Given the description of an element on the screen output the (x, y) to click on. 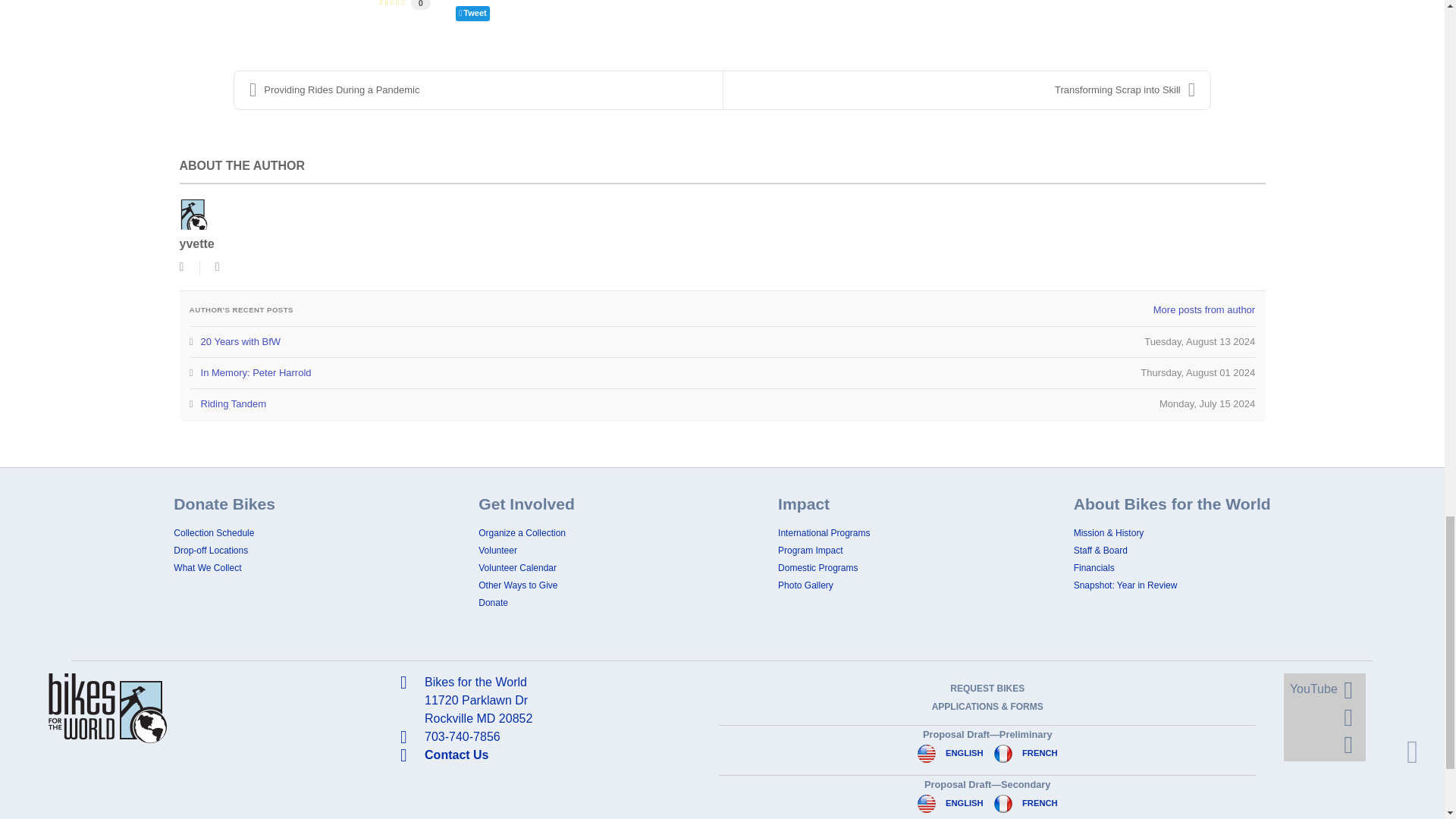
Not rated yet! (392, 4)
Other Ways to Give (518, 584)
Collection Schedule (213, 532)
Volunteer Calendar (517, 567)
0 votes (420, 4)
Volunteer (497, 550)
What We Collect (207, 567)
Organize a Collection (522, 532)
Drop-off Locations (210, 550)
